Given the description of an element on the screen output the (x, y) to click on. 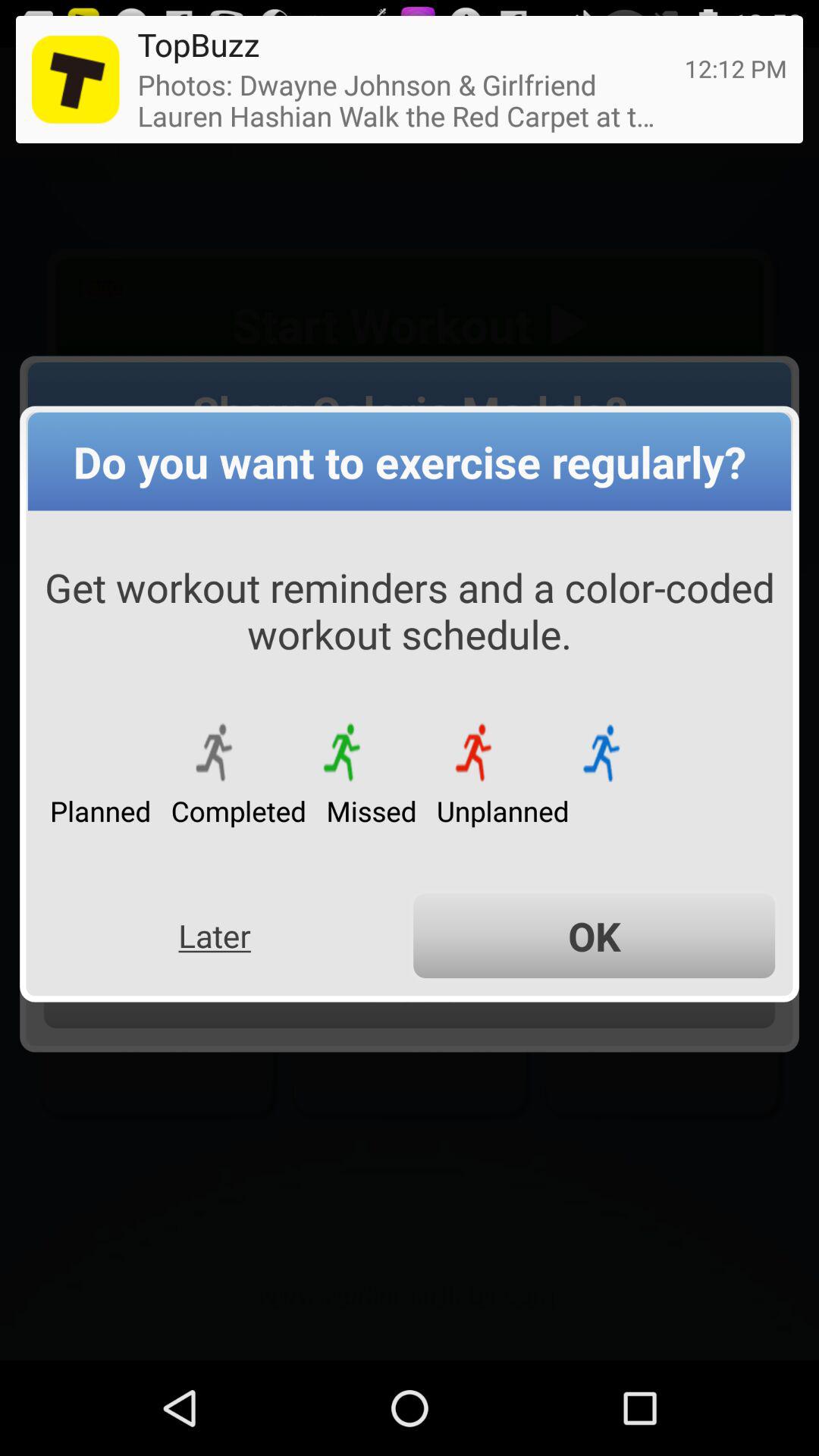
choose the app to the right of later (594, 935)
